Given the description of an element on the screen output the (x, y) to click on. 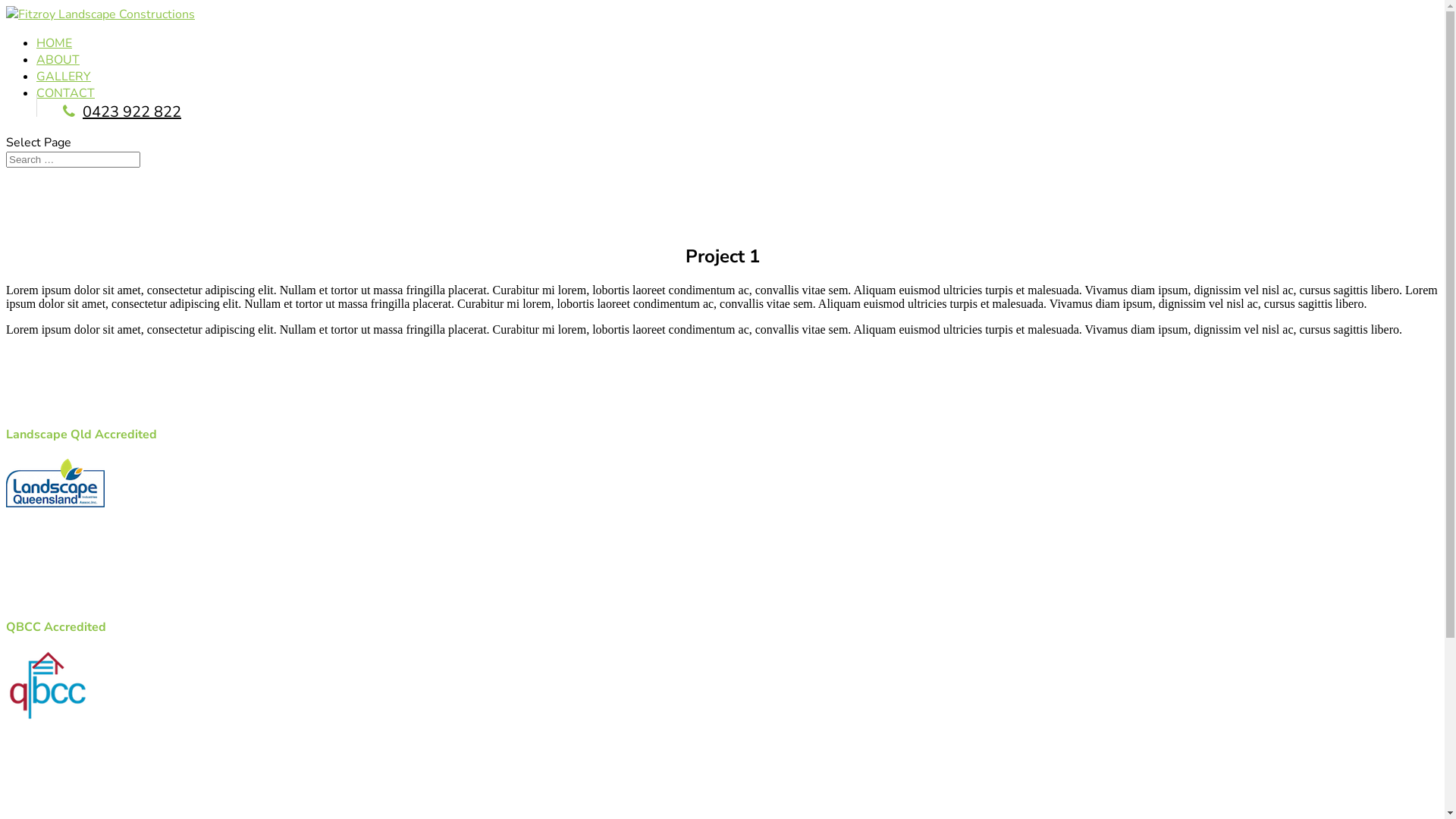
CONTACT Element type: text (65, 92)
HOME Element type: text (54, 42)
Search for: Element type: hover (73, 159)
GALLERY Element type: text (63, 76)
0423 922 822 Element type: text (121, 111)
ABOUT Element type: text (57, 59)
